Given the description of an element on the screen output the (x, y) to click on. 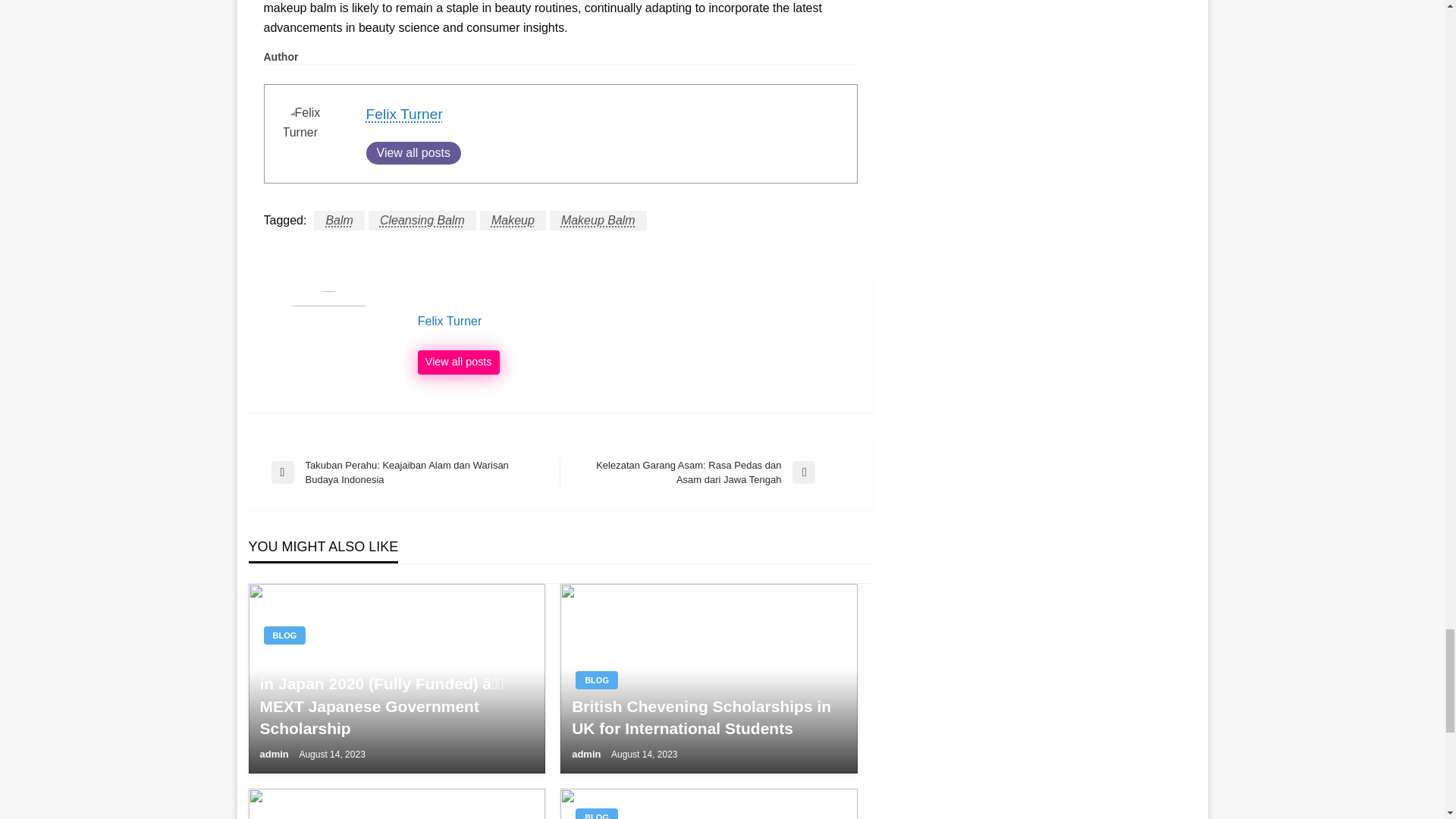
Felix Turner (637, 321)
Felix Turner (403, 114)
Felix Turner (458, 362)
View all posts (413, 152)
